Given the description of an element on the screen output the (x, y) to click on. 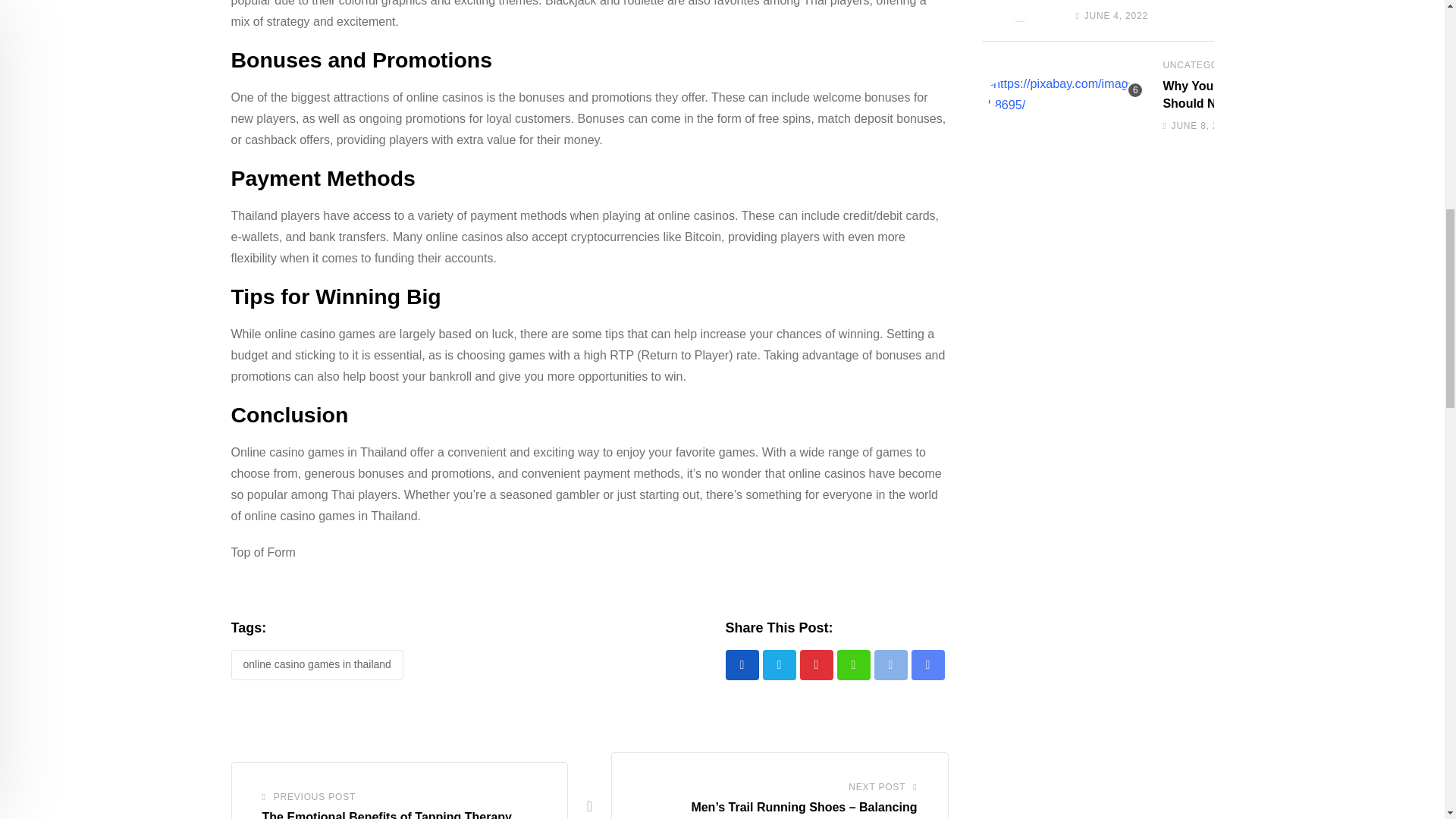
What is Fmovies? Is it safe? (1019, 11)
Why You Should Never Kill a House Centipede (1062, 94)
